Given the description of an element on the screen output the (x, y) to click on. 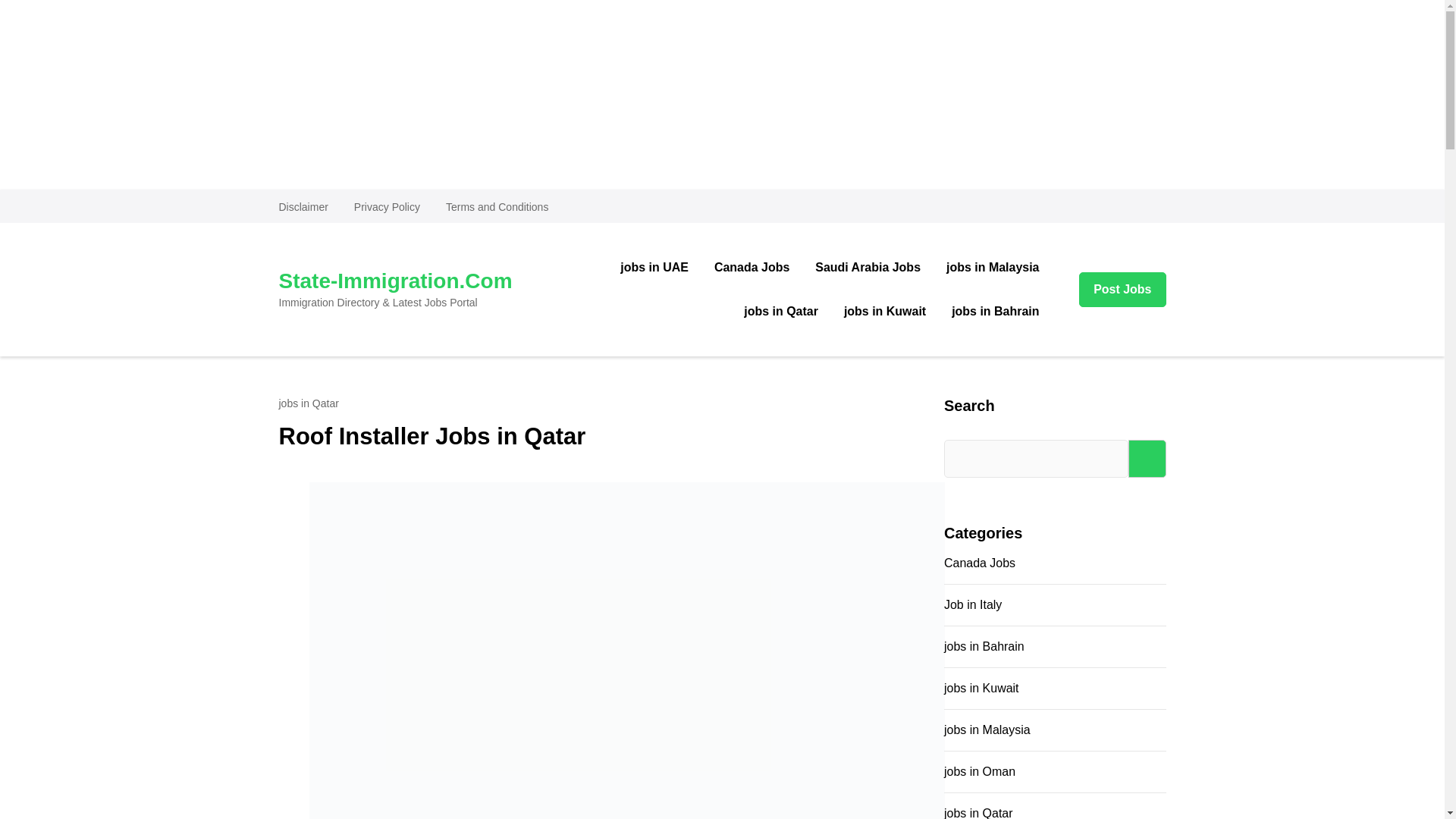
jobs in Qatar (309, 403)
jobs in Malaysia (992, 267)
jobs in UAE (654, 267)
Canada Jobs (978, 562)
jobs in Bahrain (995, 311)
State-Immigration.Com (395, 280)
jobs in Kuwait (885, 311)
Search (1147, 458)
Post Jobs (1122, 289)
jobs in Qatar (780, 311)
